Given the description of an element on the screen output the (x, y) to click on. 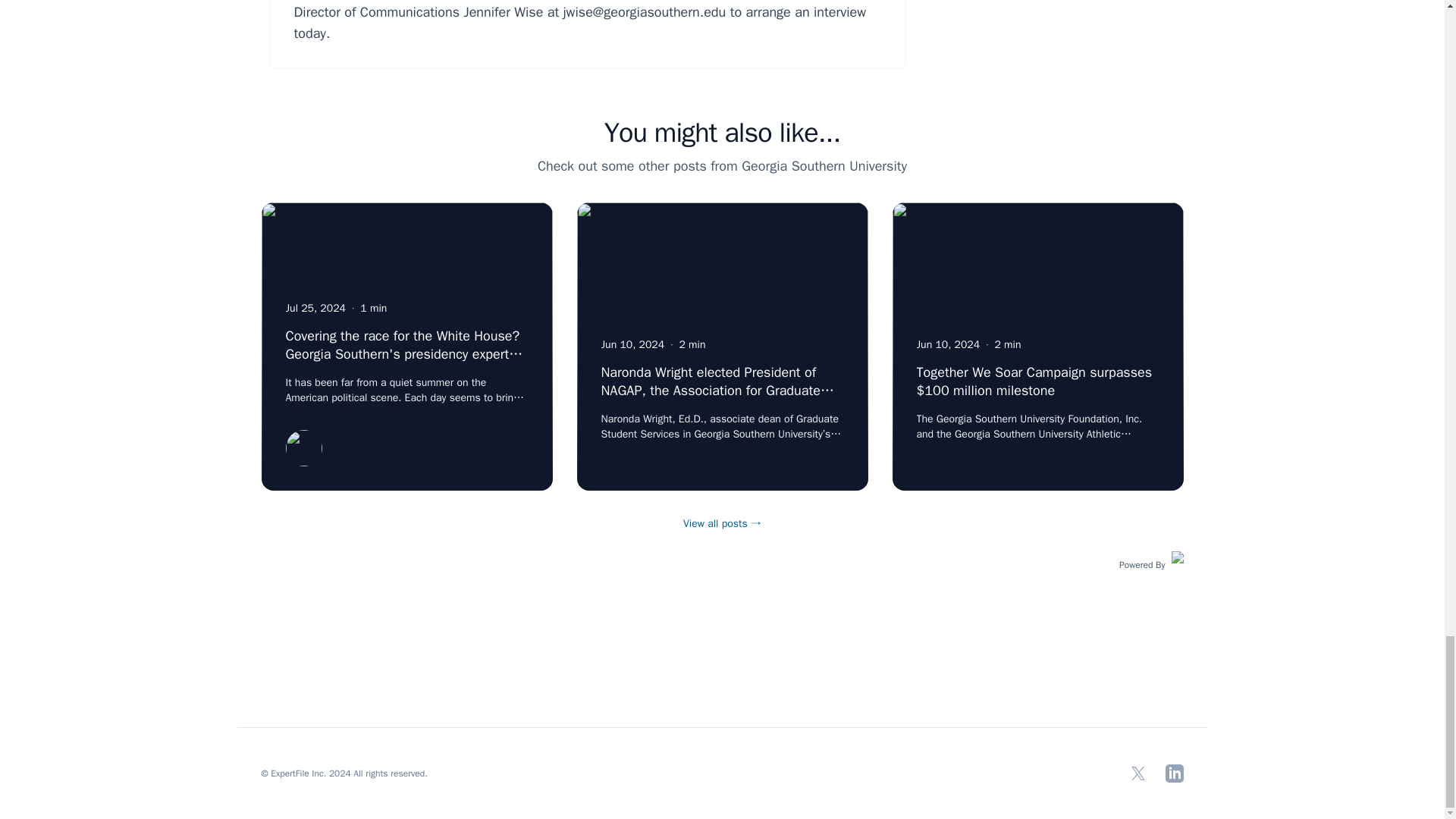
Powered By (1150, 563)
X (1137, 773)
LinkedIn (1173, 773)
